Given the description of an element on the screen output the (x, y) to click on. 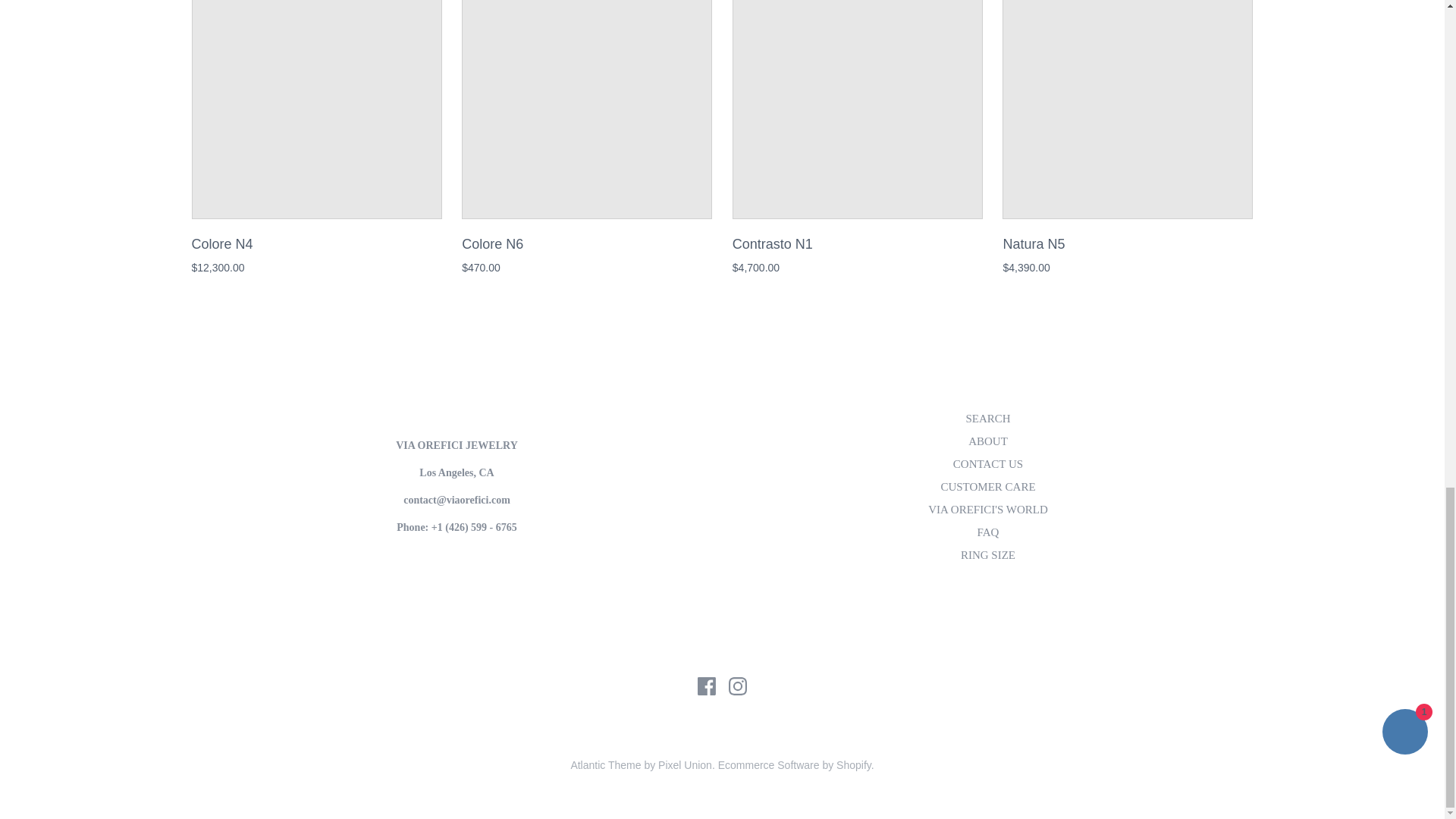
Instagram Icon (737, 686)
Facebook Icon (706, 686)
